Given the description of an element on the screen output the (x, y) to click on. 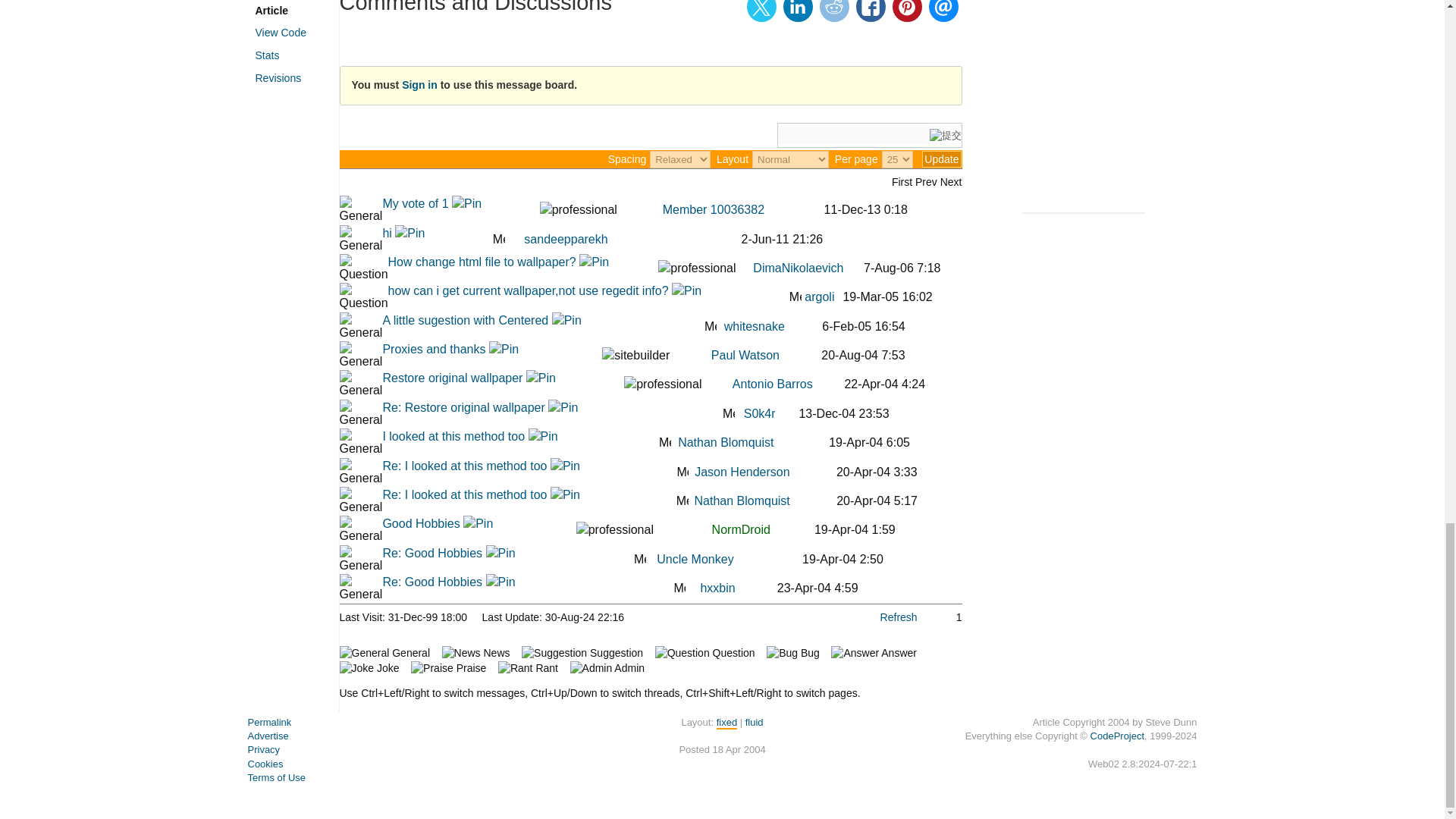
Professional (578, 209)
Update (940, 158)
General (360, 209)
Click to pin message (466, 203)
General (360, 239)
